Given the description of an element on the screen output the (x, y) to click on. 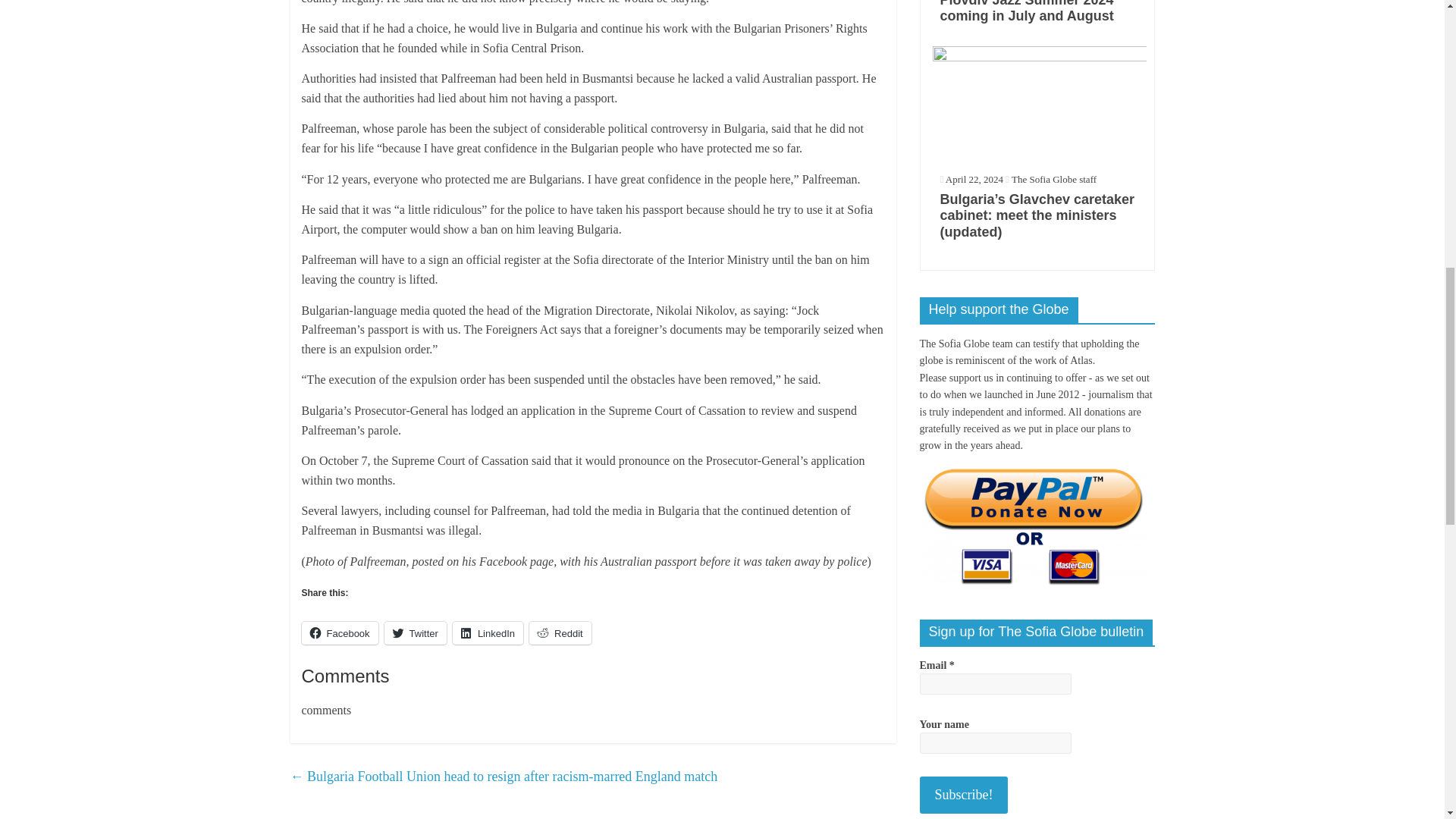
LinkedIn (487, 632)
Reddit (560, 632)
Twitter (415, 632)
Click to share on LinkedIn (487, 632)
Click to share on Twitter (415, 632)
Facebook (339, 632)
Click to share on Reddit (560, 632)
Click to share on Facebook (339, 632)
Subscribe! (962, 795)
